Given the description of an element on the screen output the (x, y) to click on. 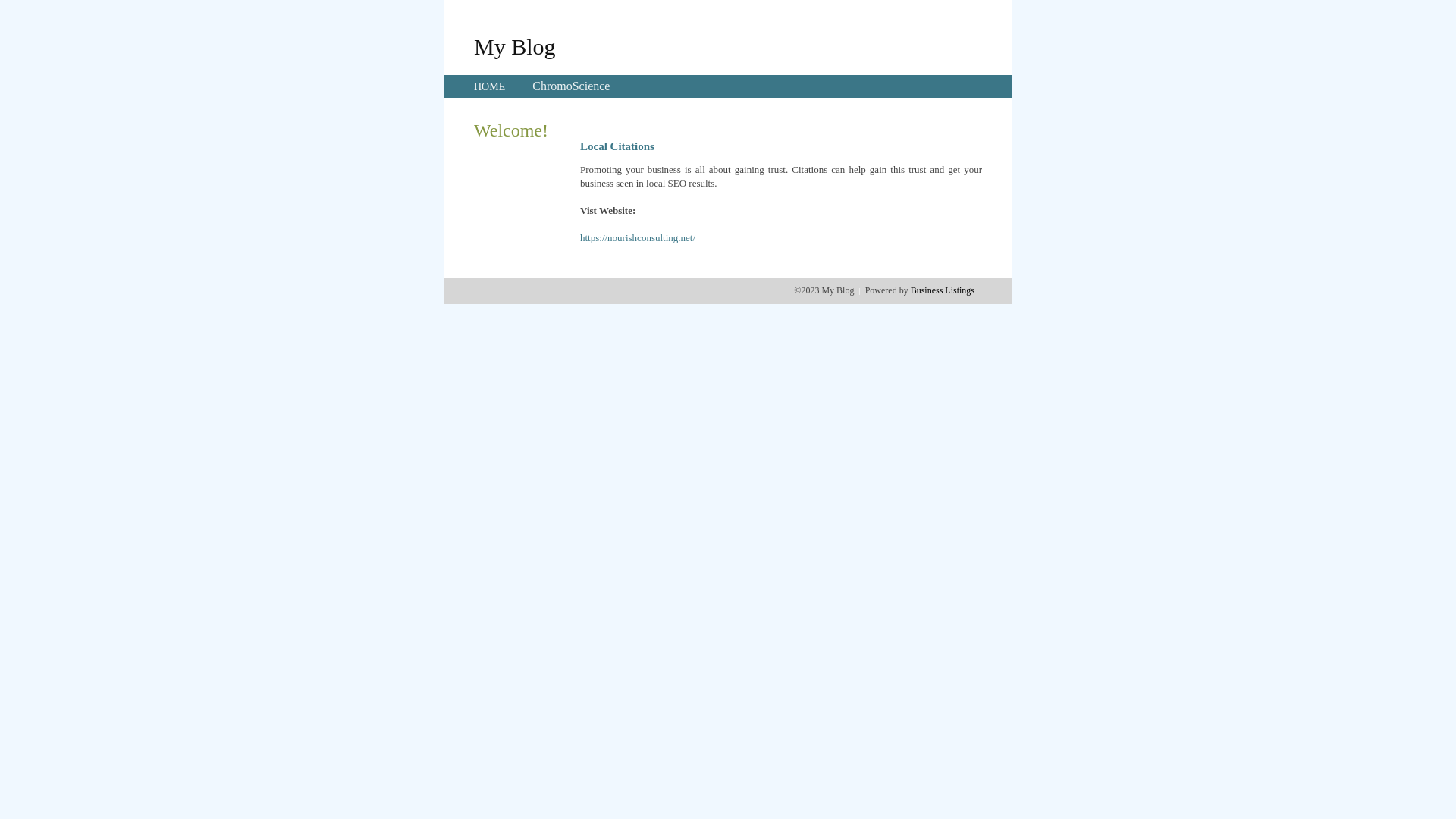
Business Listings Element type: text (942, 290)
ChromoScience Element type: text (570, 85)
My Blog Element type: text (514, 46)
https://nourishconsulting.net/ Element type: text (637, 237)
HOME Element type: text (489, 86)
